Given the description of an element on the screen output the (x, y) to click on. 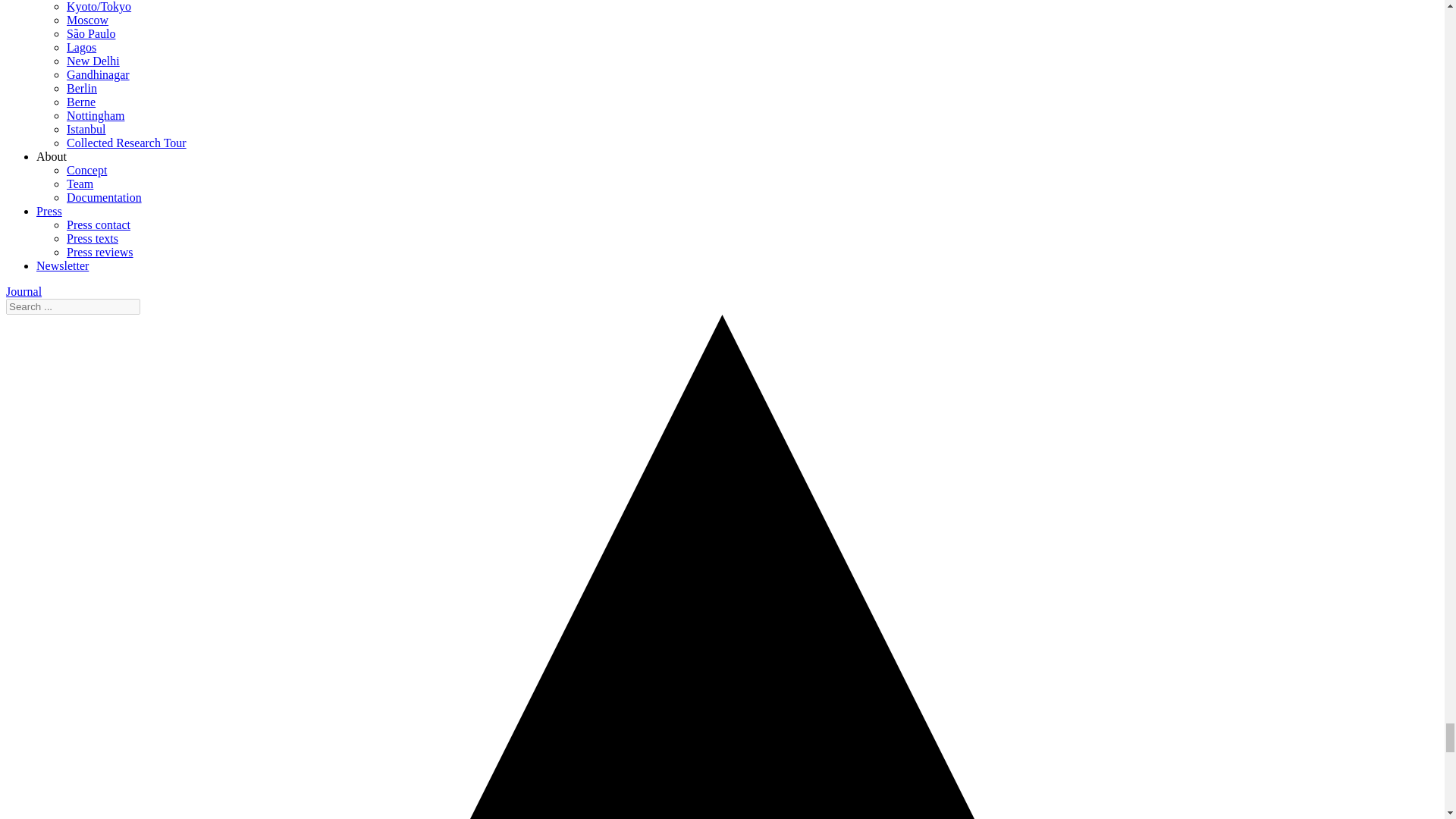
Documentation (103, 196)
Berne (81, 101)
Press reviews (99, 251)
Press contact (98, 224)
Collected Research Tour (126, 142)
Team (79, 183)
Nottingham (94, 115)
Istanbul (86, 128)
Newsletter (62, 265)
Lagos (81, 47)
